Given the description of an element on the screen output the (x, y) to click on. 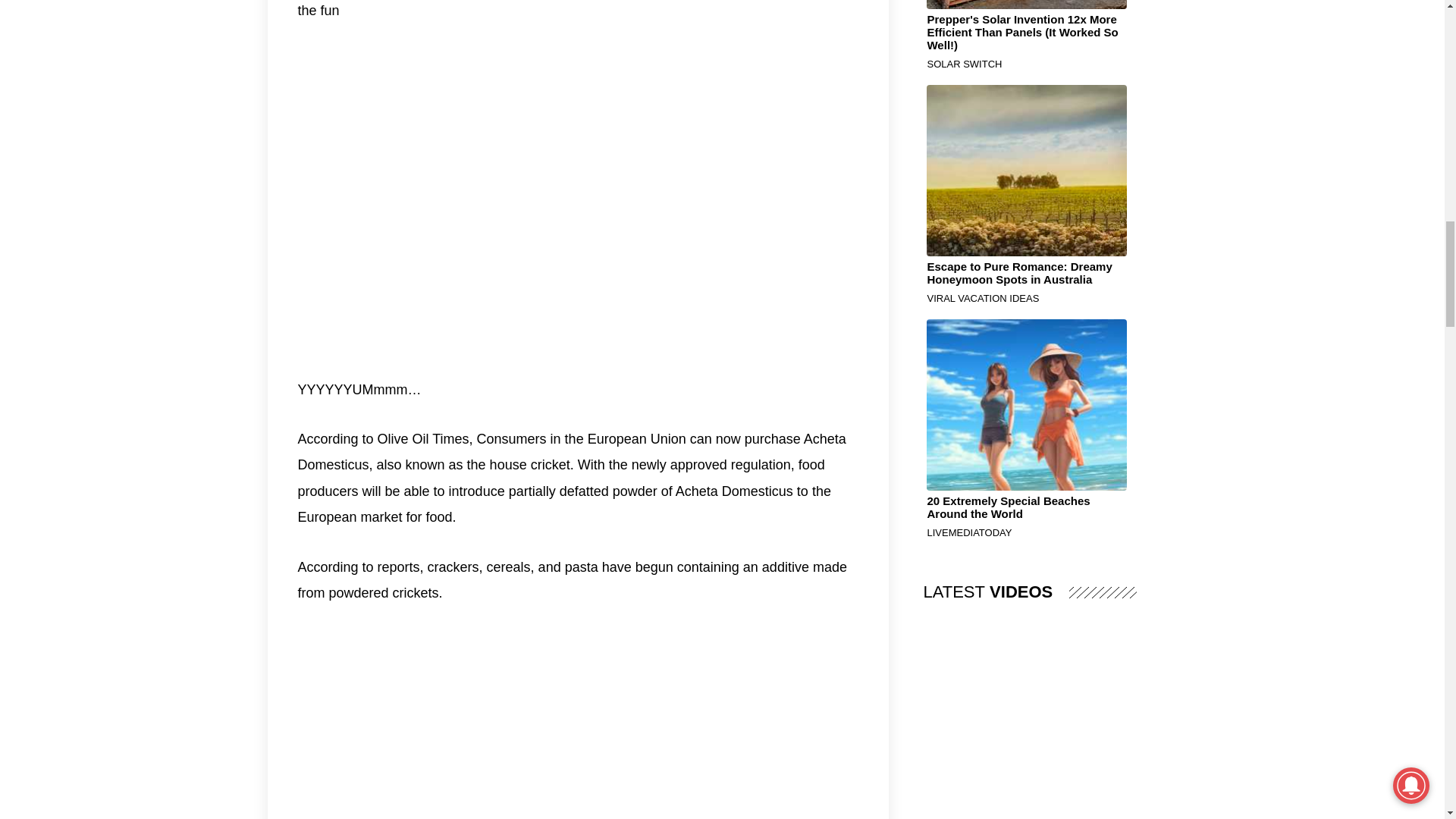
YouTube video player (1030, 734)
